Given the description of an element on the screen output the (x, y) to click on. 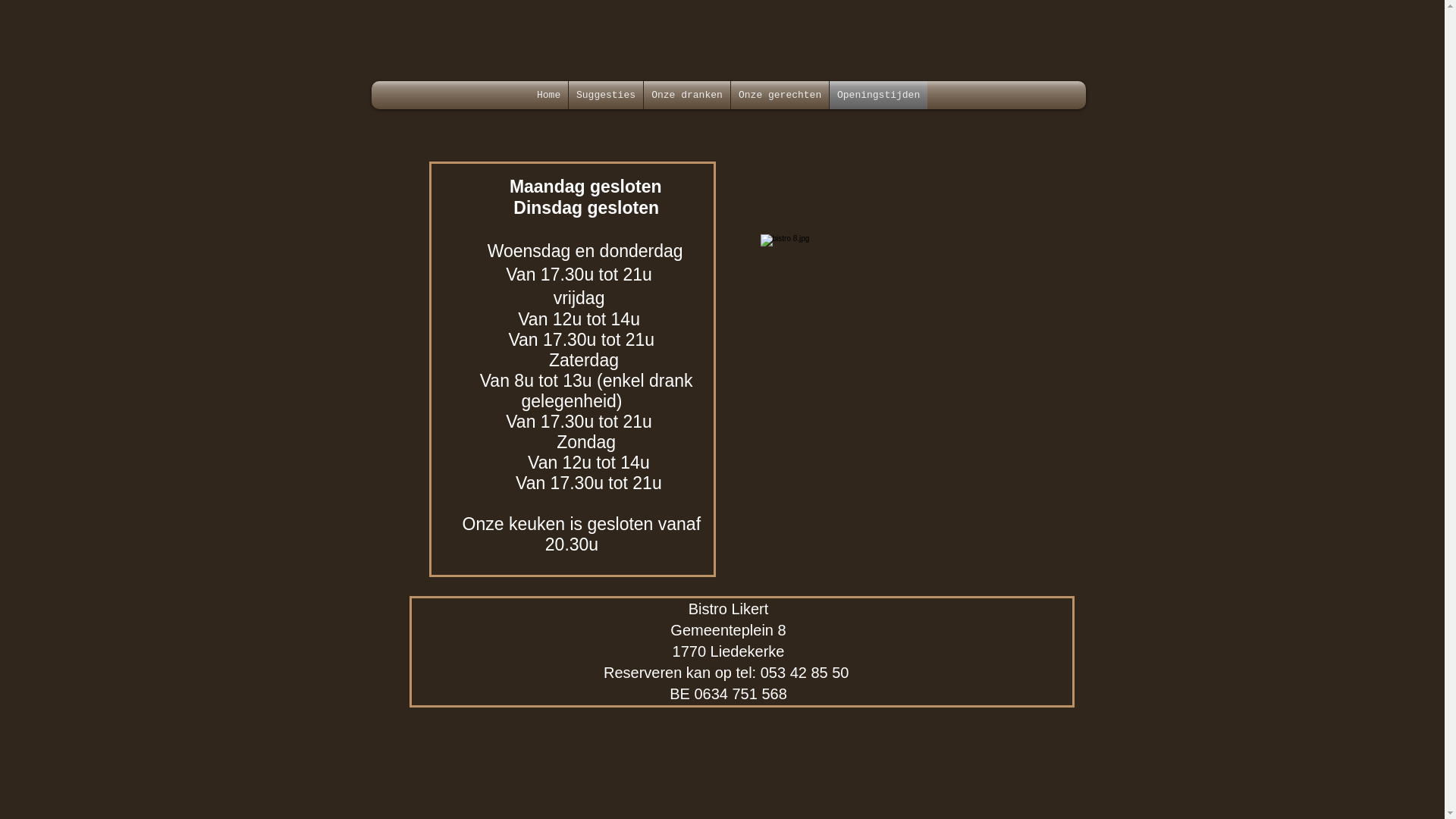
Openingstijden Element type: text (878, 95)
Suggesties Element type: text (605, 95)
Onze gerechten Element type: text (779, 95)
Onze dranken Element type: text (686, 95)
Home Element type: text (548, 95)
